Given the description of an element on the screen output the (x, y) to click on. 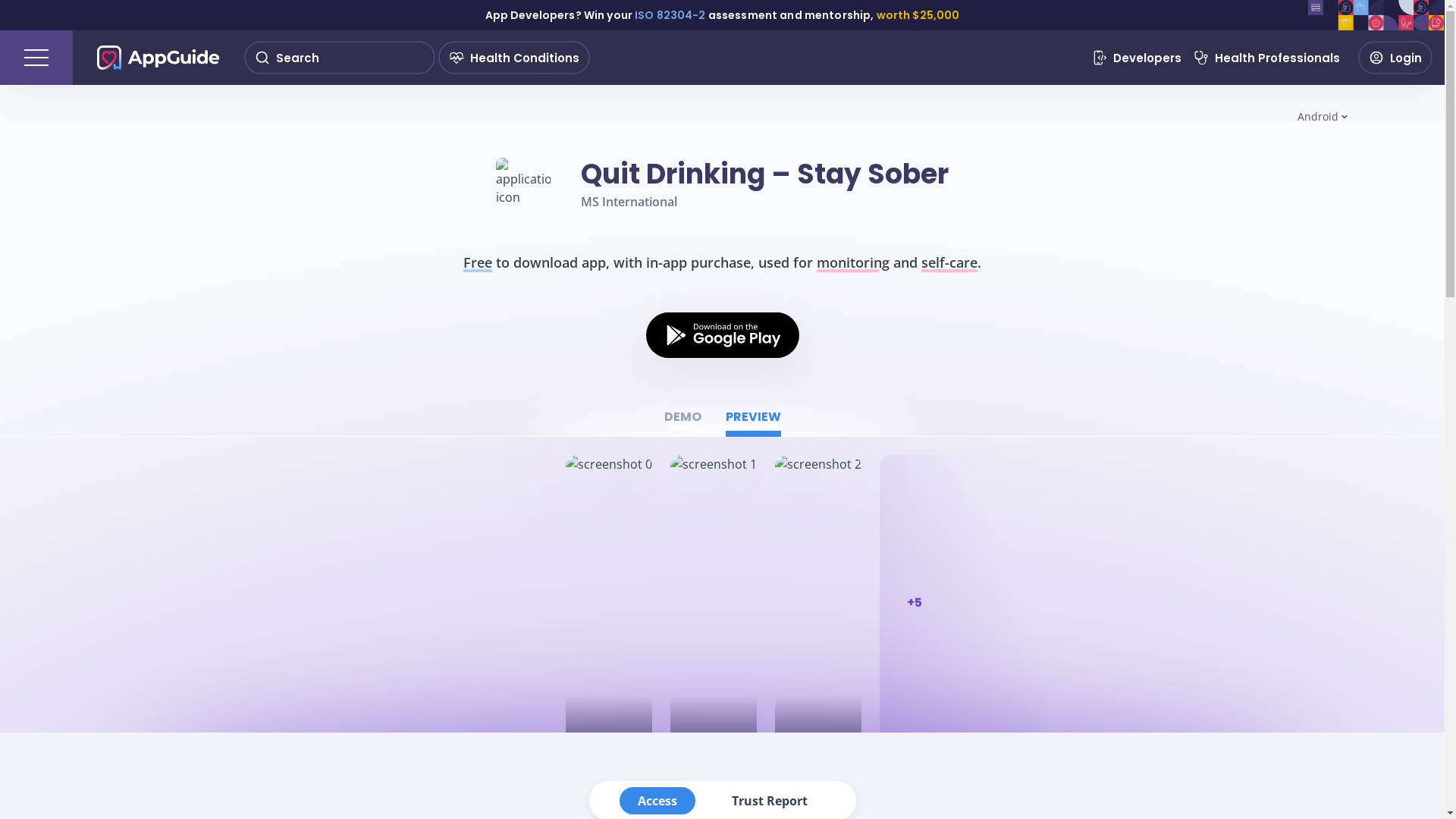
DEMO Element type: text (682, 421)
Search Element type: text (339, 57)
+5 Element type: text (900, 602)
Health Professionals Element type: text (1266, 57)
Health Conditions Element type: text (513, 57)
Trust Report Element type: text (768, 800)
Access Element type: text (656, 800)
Android Element type: text (1322, 116)
Developers Element type: text (1136, 57)
PREVIEW Element type: text (752, 421)
Login Element type: text (1395, 57)
